Given the description of an element on the screen output the (x, y) to click on. 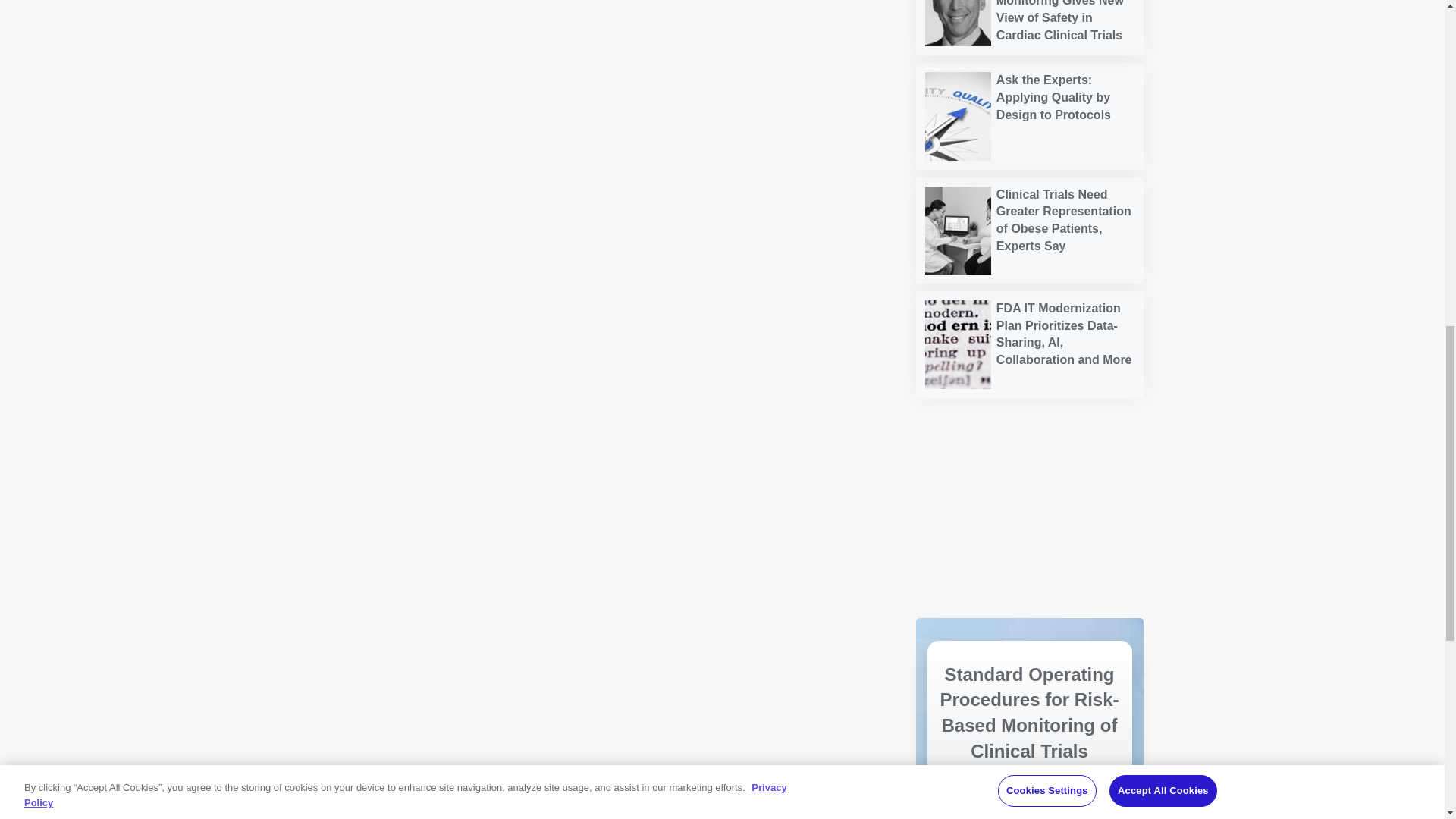
3rd party ad content (1028, 458)
3rd party ad content (1028, 556)
Jonathan Seltzer (957, 22)
